Given the description of an element on the screen output the (x, y) to click on. 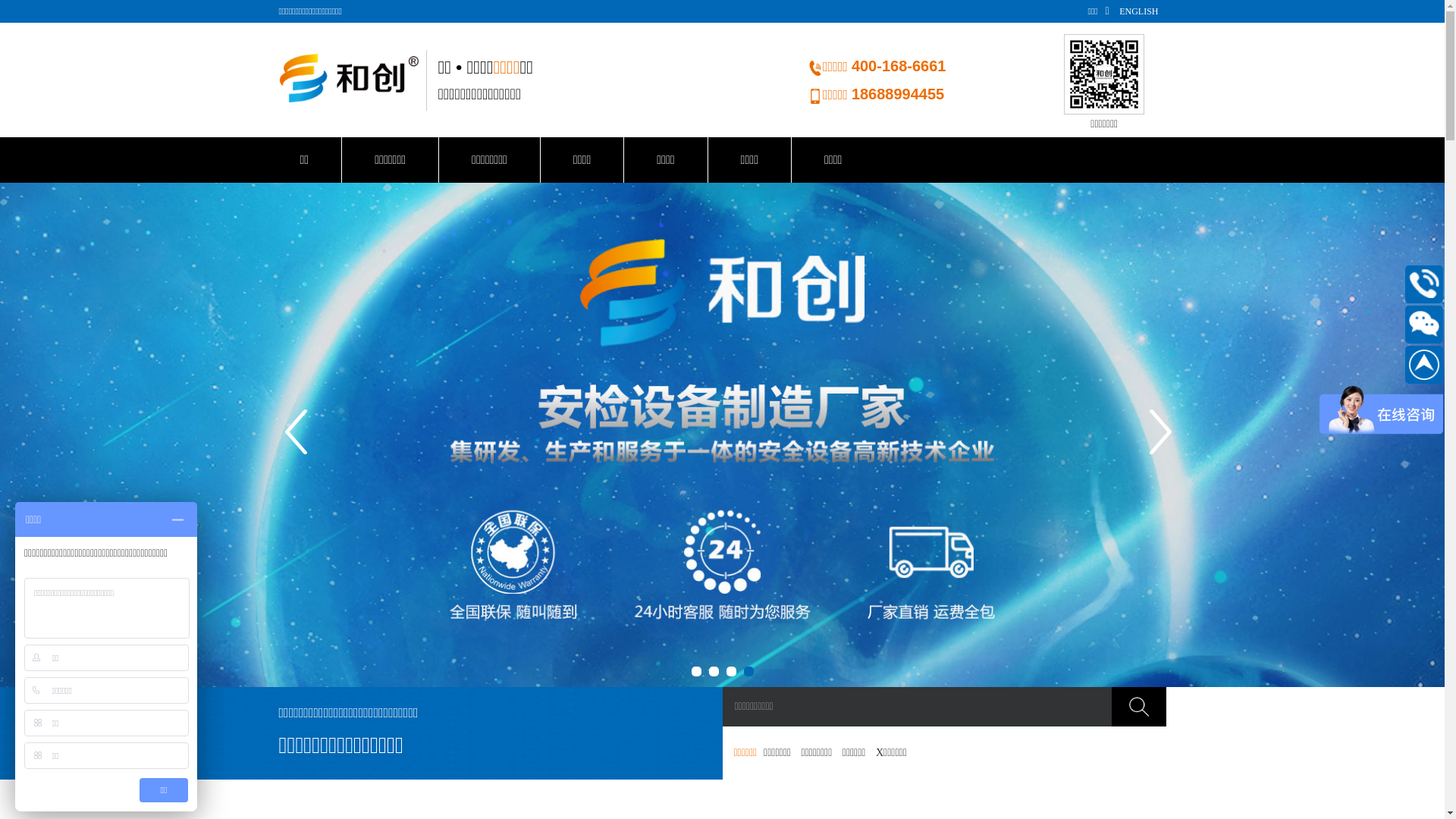
2 Element type: text (713, 671)
4 Element type: text (748, 671)
1 Element type: text (696, 671)
Next Element type: text (1161, 434)
Prev Element type: text (297, 434)
ENGLISH Element type: text (1138, 10)
3 Element type: text (731, 671)
